Given the description of an element on the screen output the (x, y) to click on. 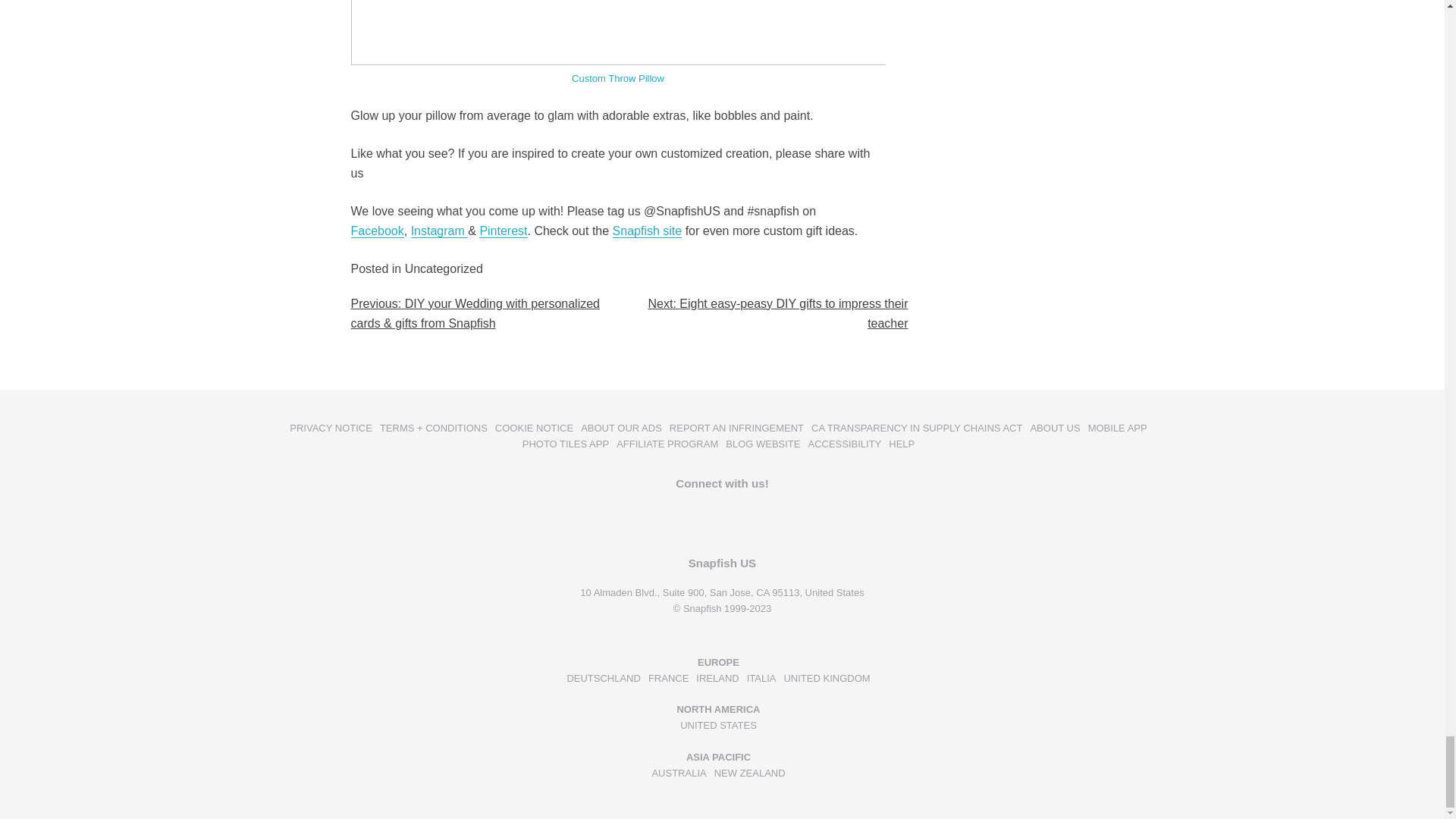
Custom Throw Pillow (617, 78)
Snapfish site (647, 231)
Pinterest (503, 231)
Facebook (376, 231)
Instagram  (439, 231)
